Given the description of an element on the screen output the (x, y) to click on. 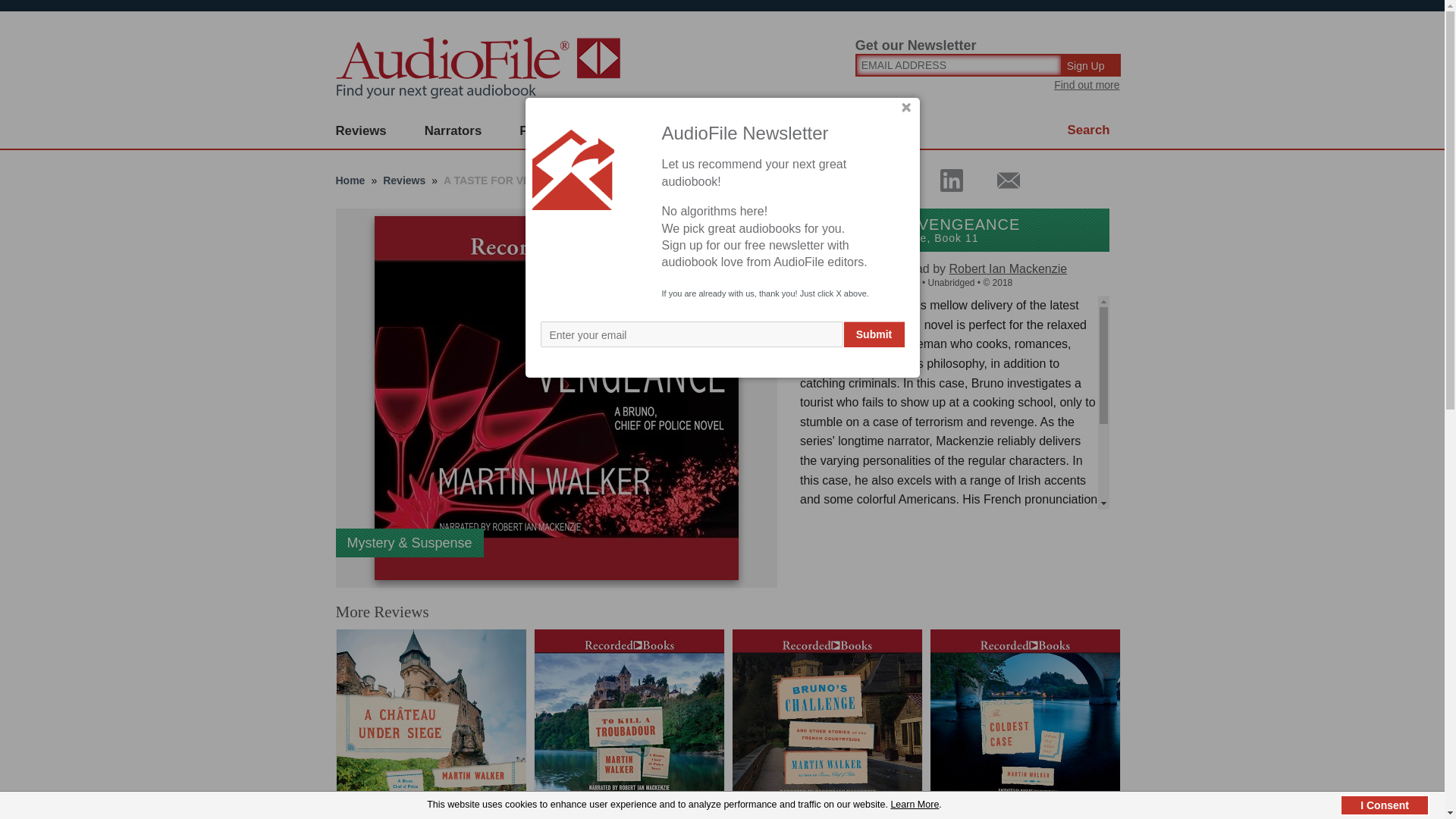
Submit (873, 334)
Find out more (1086, 84)
AudioFileMagazine - Share by Email (999, 180)
Search (1089, 130)
Articles (808, 131)
About (727, 131)
Reviews (360, 131)
Subscribe (640, 131)
Features (545, 131)
Sign Up (1091, 65)
Narrators (453, 131)
